Given the description of an element on the screen output the (x, y) to click on. 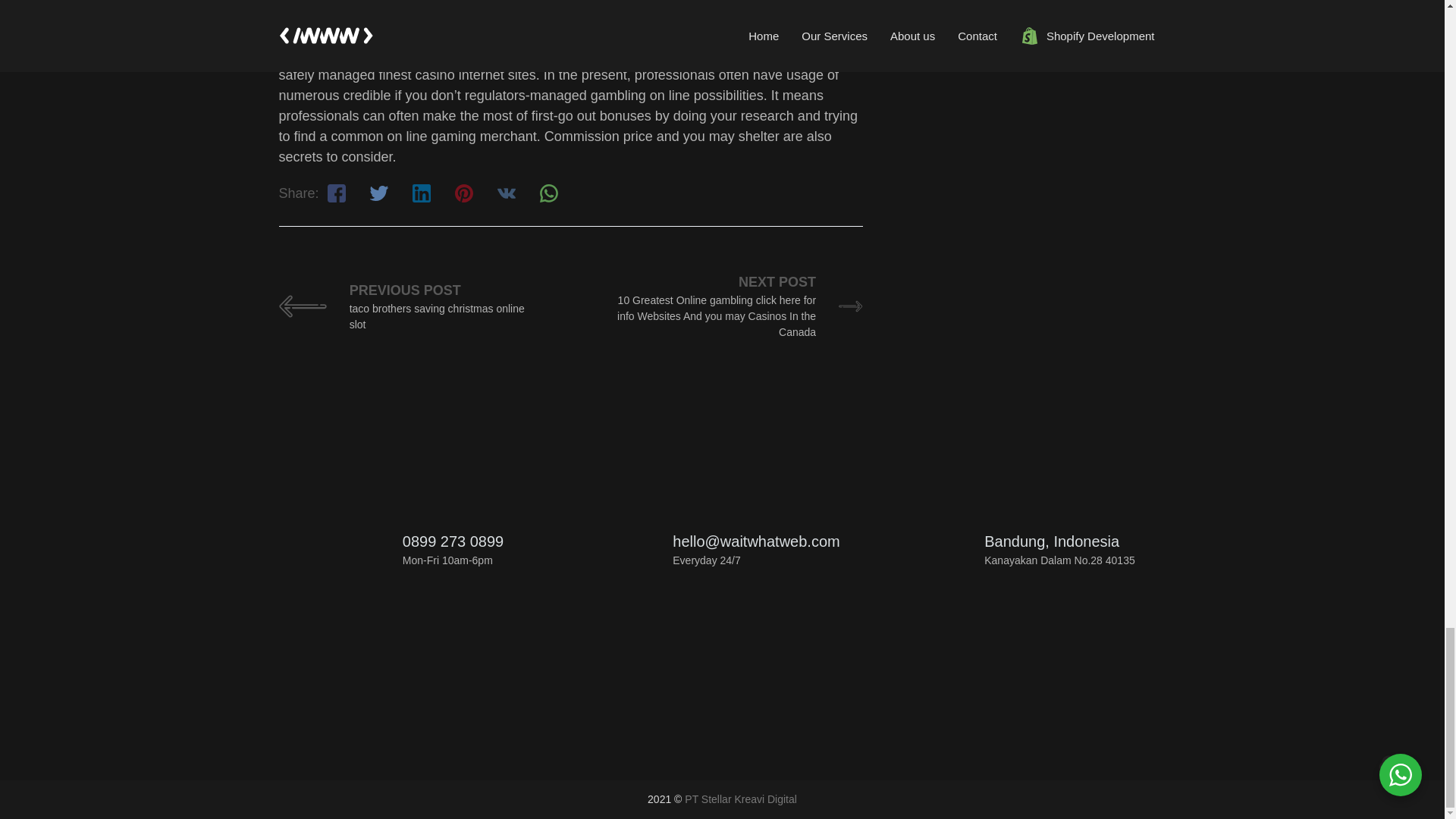
PT Stellar Kreavi Digital (740, 799)
